Given the description of an element on the screen output the (x, y) to click on. 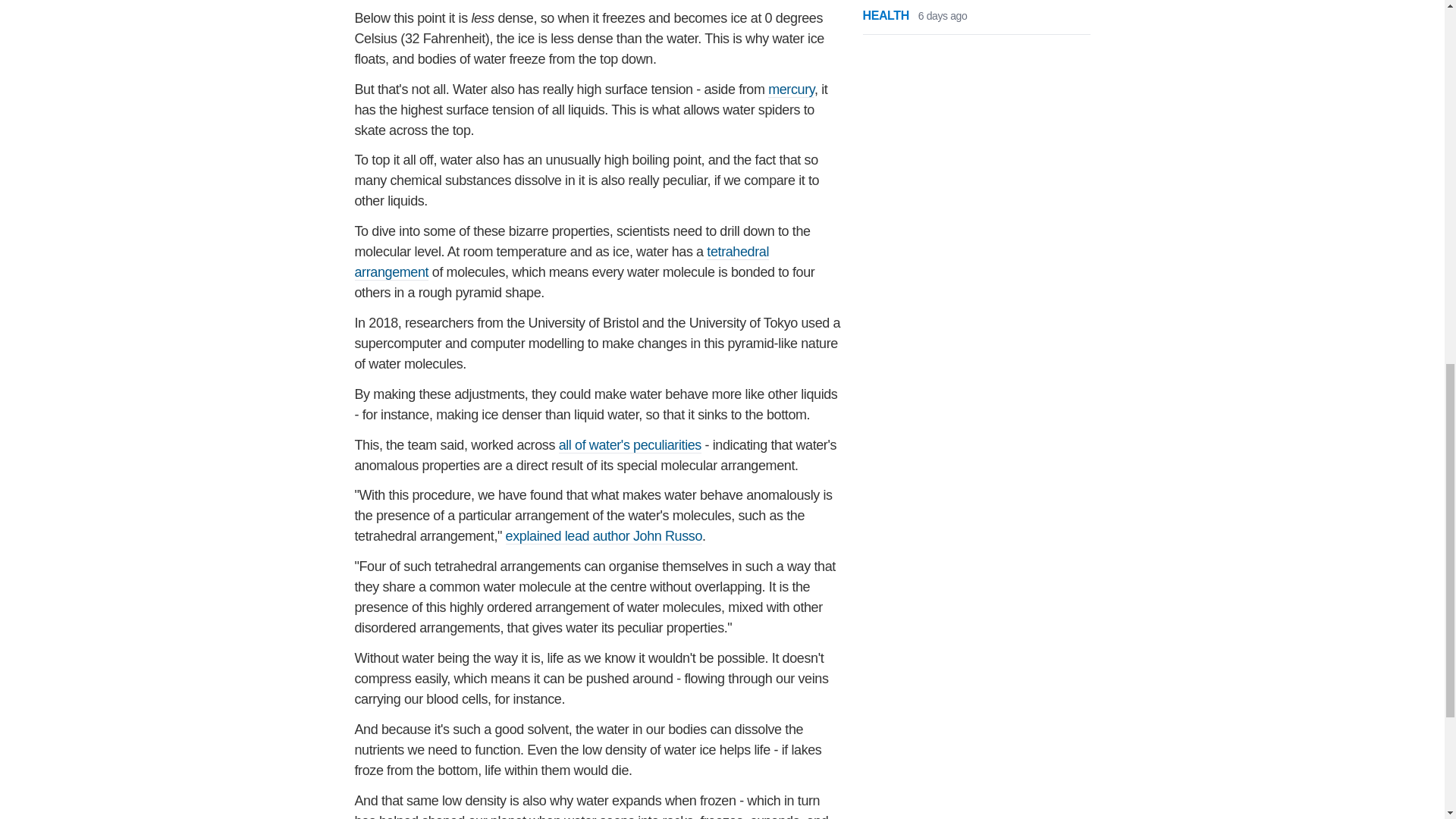
all of water's peculiarities (630, 445)
tetrahedral arrangement (562, 262)
explained lead author John Russo (603, 536)
mercury (790, 89)
